Given the description of an element on the screen output the (x, y) to click on. 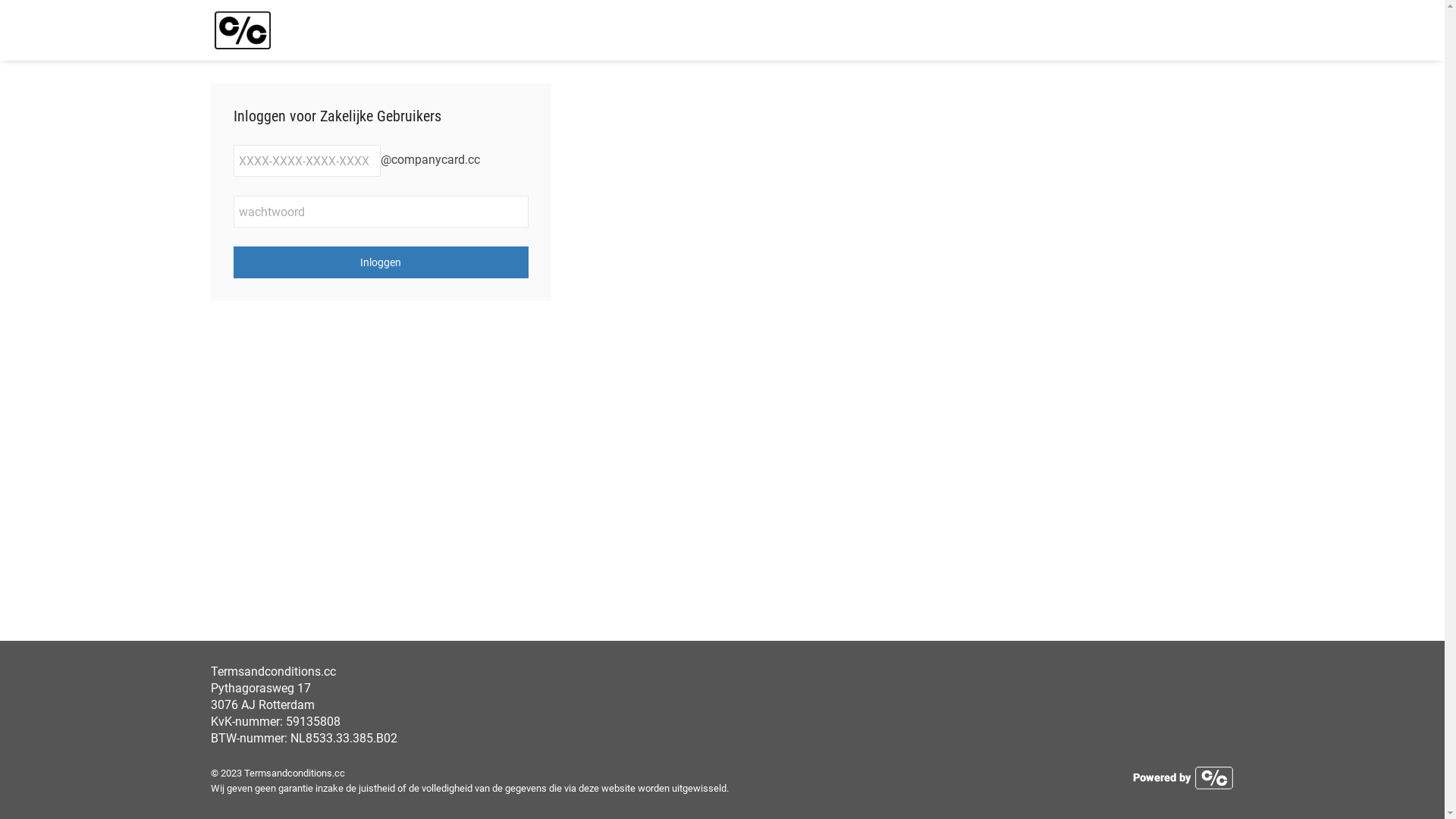
Inloggen Element type: text (381, 262)
